Given the description of an element on the screen output the (x, y) to click on. 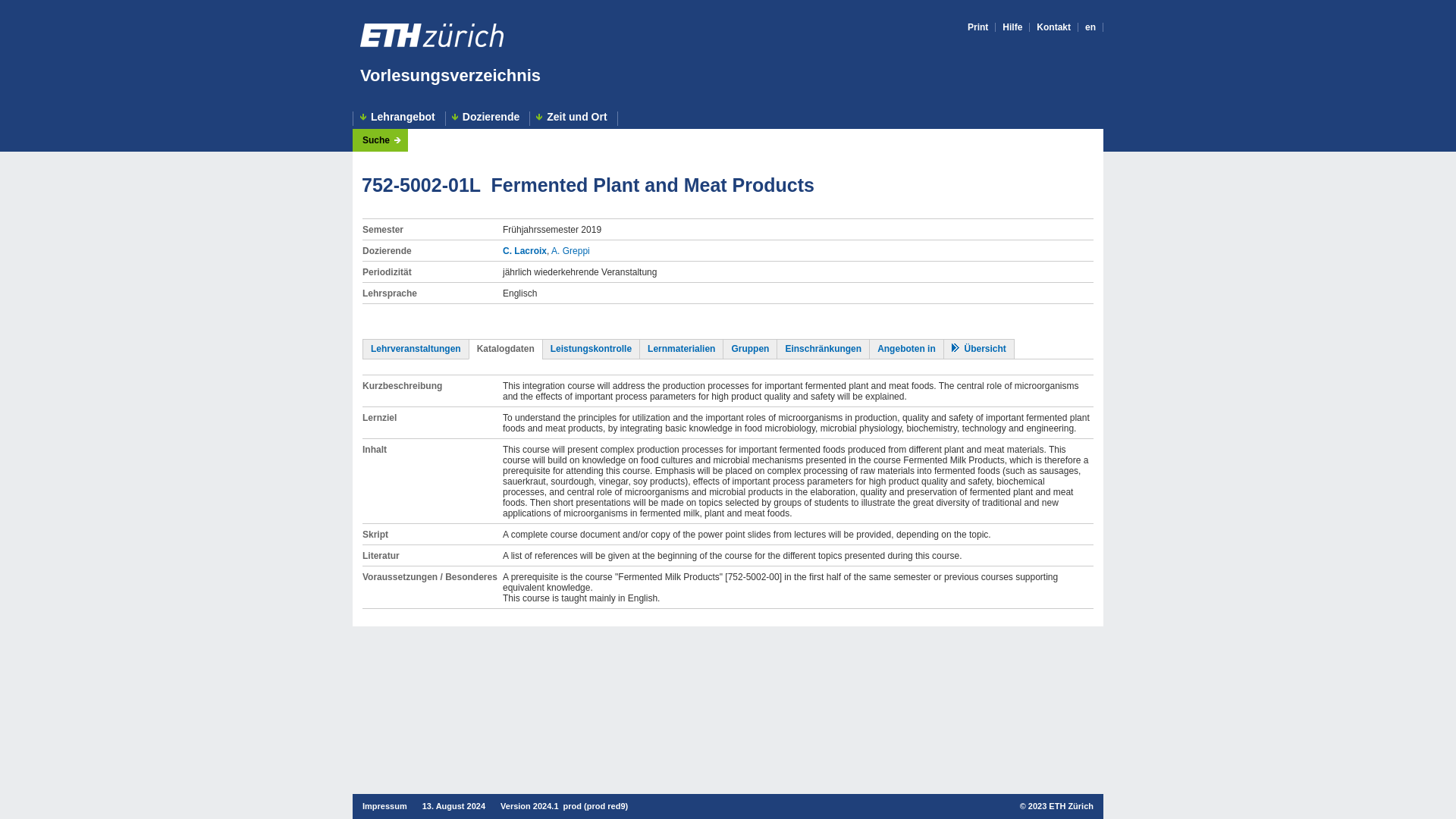
Kontakt (1053, 26)
Lehrangebot (398, 118)
Dozierende (487, 118)
en (1090, 26)
Gruppen (749, 348)
Lernmaterialien (680, 348)
Impressum (384, 805)
Vorlesungsverzeichnis (449, 75)
Suche (381, 139)
Hilfe (1012, 26)
